Given the description of an element on the screen output the (x, y) to click on. 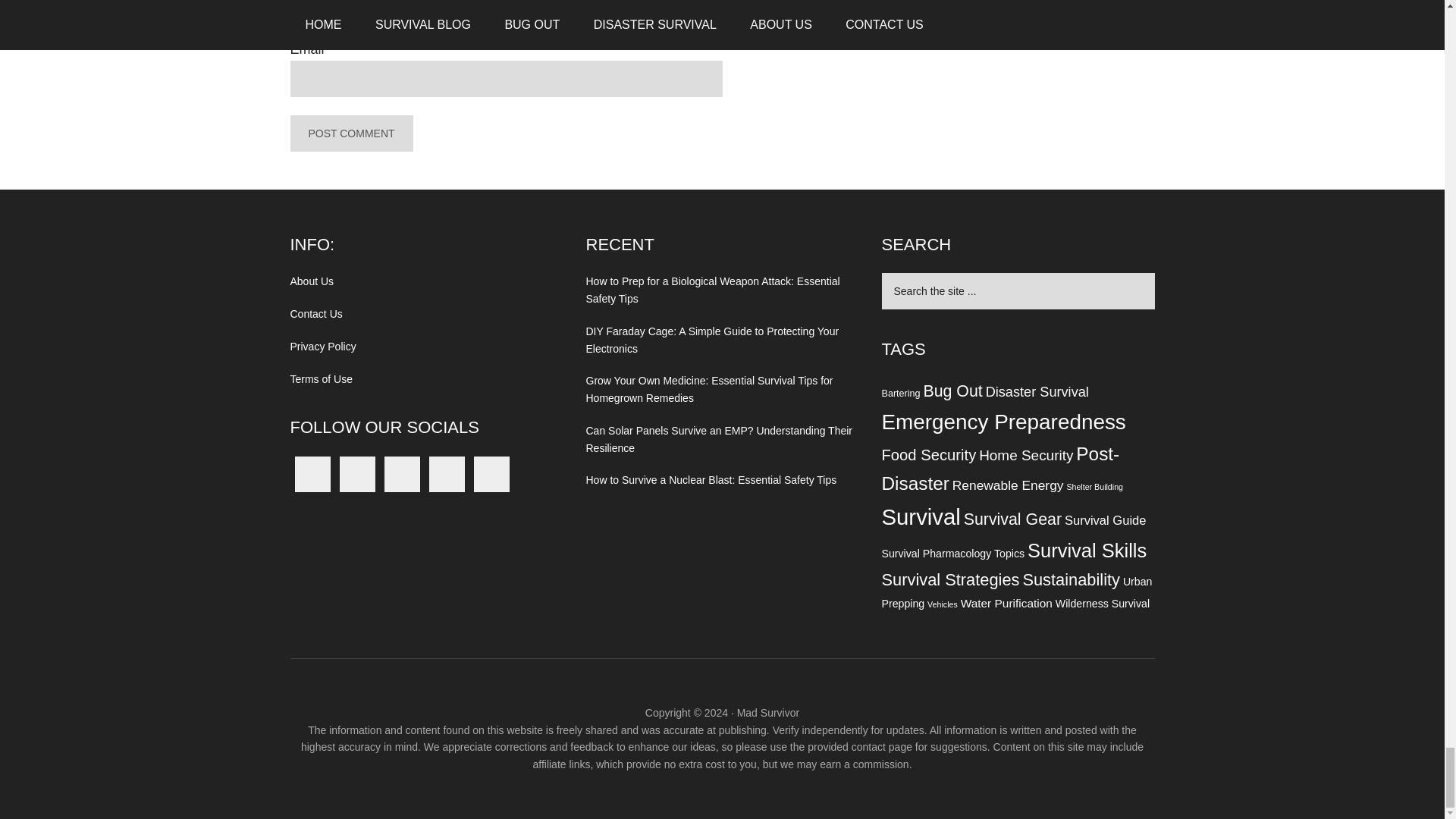
Post Comment (350, 133)
